Given the description of an element on the screen output the (x, y) to click on. 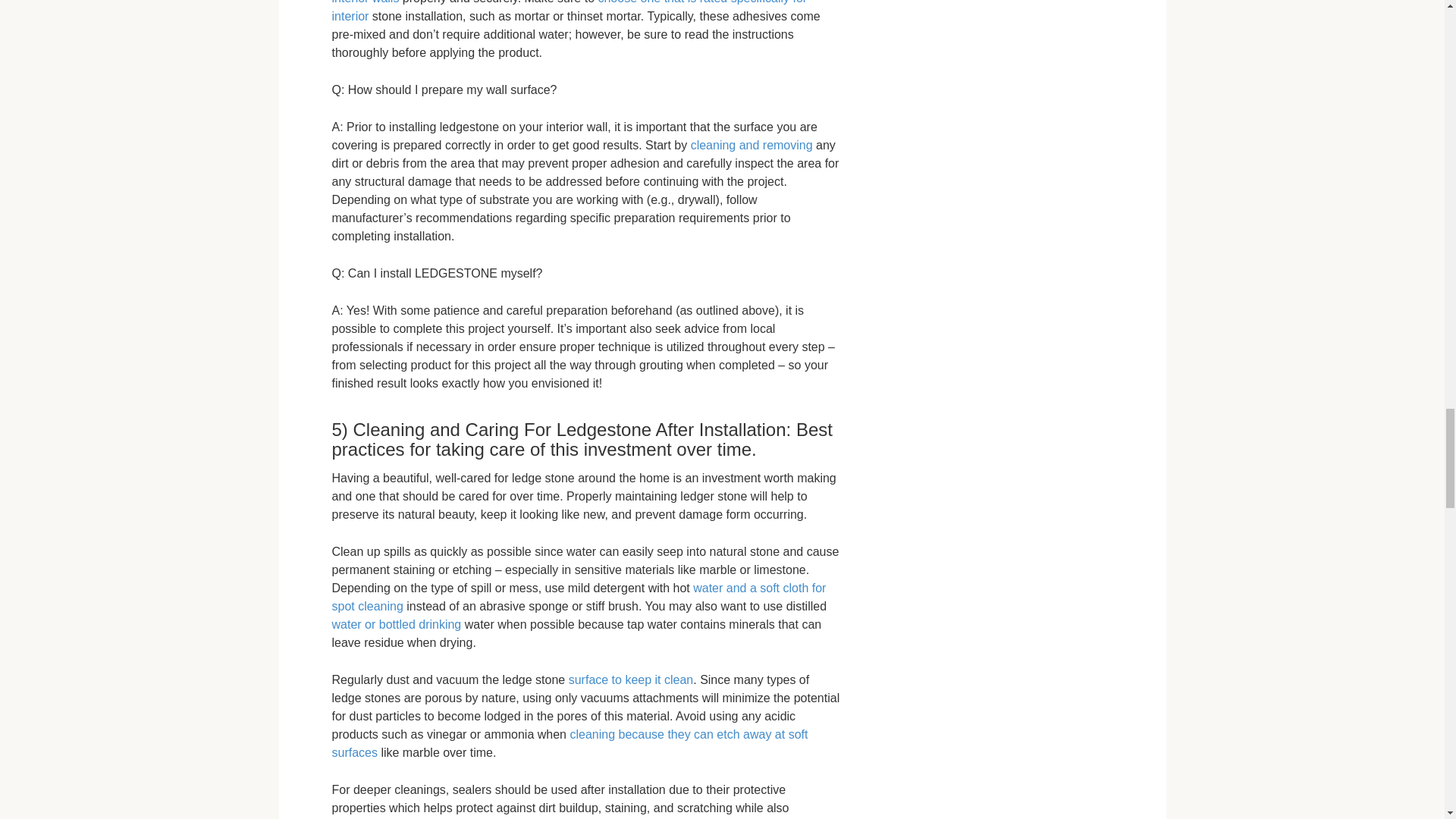
choose one that is rated specifically for interior (569, 11)
water or bottled drinking (396, 624)
cleaning and removing (751, 144)
interior walls (364, 2)
surface to keep it clean (631, 679)
cleaning because they can etch away at soft surfaces (569, 743)
water and a soft cloth for spot cleaning (579, 596)
